Given the description of an element on the screen output the (x, y) to click on. 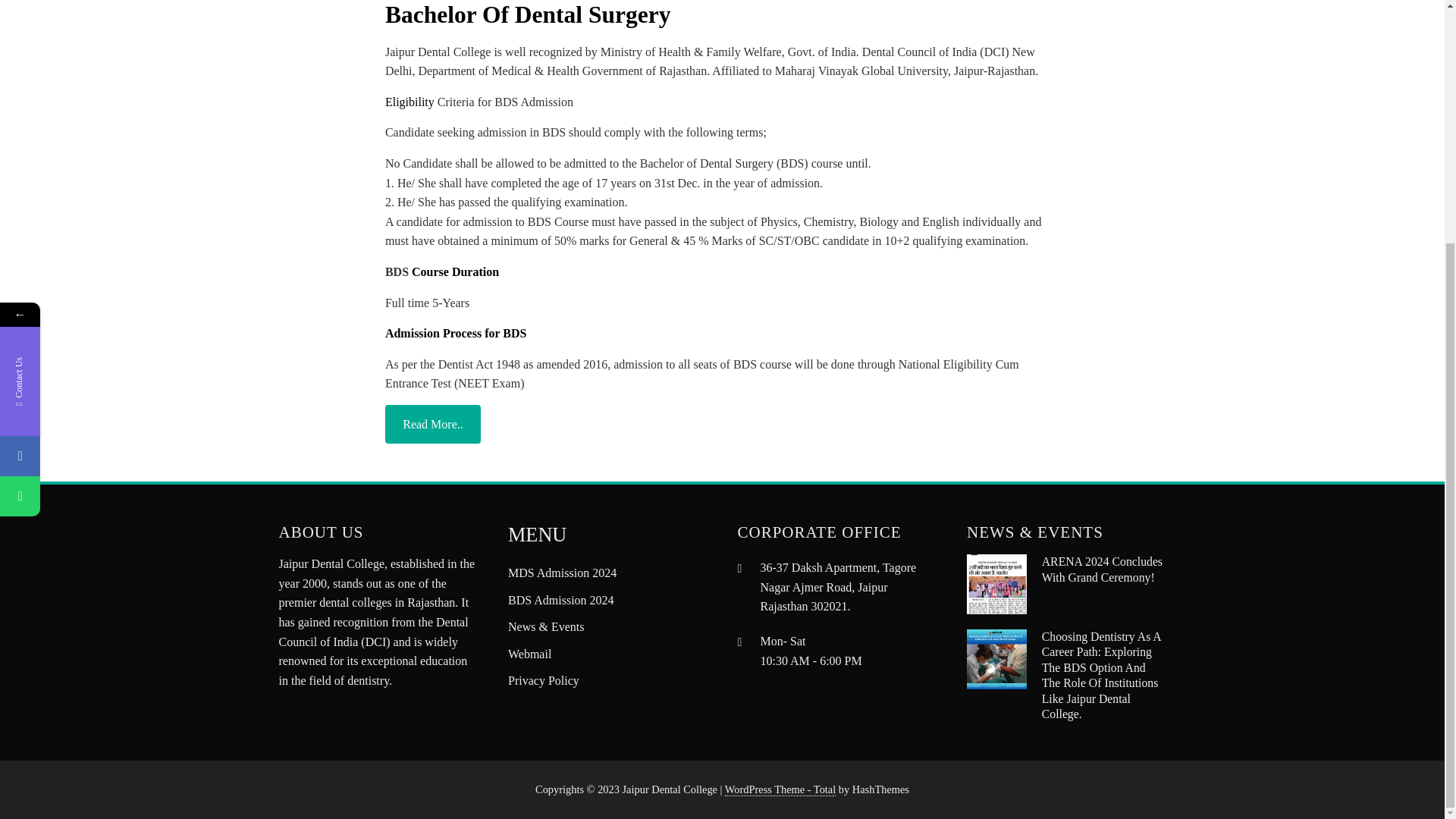
Eligibility (409, 101)
Read More.. (432, 423)
WhatsApp (20, 159)
MDS Admission 2024 (561, 572)
Facebook (92, 119)
Course Duration (455, 271)
Facebook (20, 119)
Admission Process for BDS (456, 332)
WhatsApp (92, 159)
BDS Admission 2024 (561, 599)
